Given the description of an element on the screen output the (x, y) to click on. 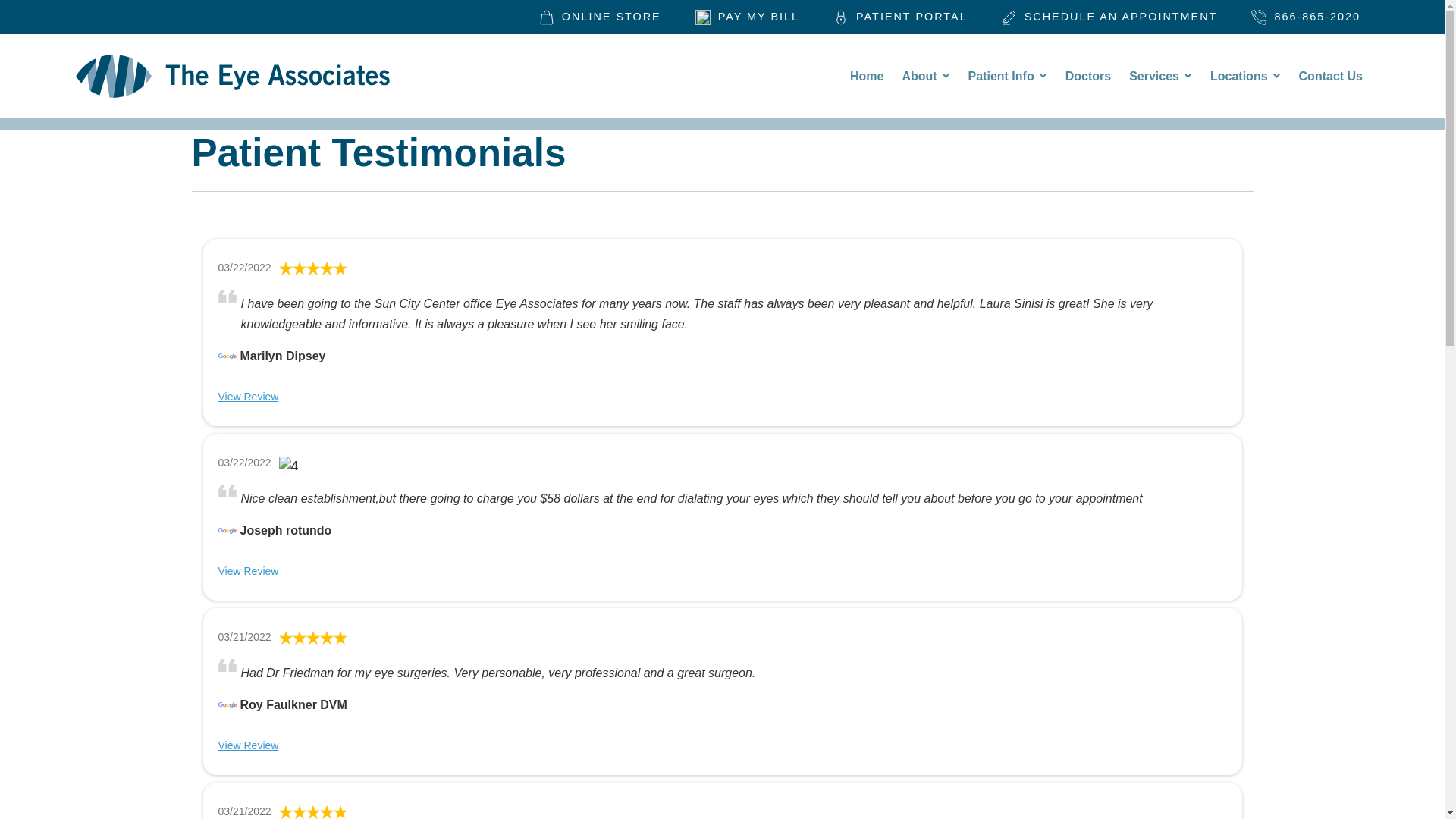
PATIENT PORTAL (900, 17)
Patient Info (1008, 75)
PAY MY BILL (747, 17)
Services (1160, 75)
Google Business Profile (226, 356)
Go to homepage (232, 75)
Home (866, 75)
5 (313, 268)
The Eye Associates (866, 75)
866-865-2020 (1305, 17)
Google Business Profile (226, 530)
Doctors (1088, 75)
ONLINE STORE (599, 17)
SCHEDULE AN APPOINTMENT (1109, 17)
5 (313, 637)
